Given the description of an element on the screen output the (x, y) to click on. 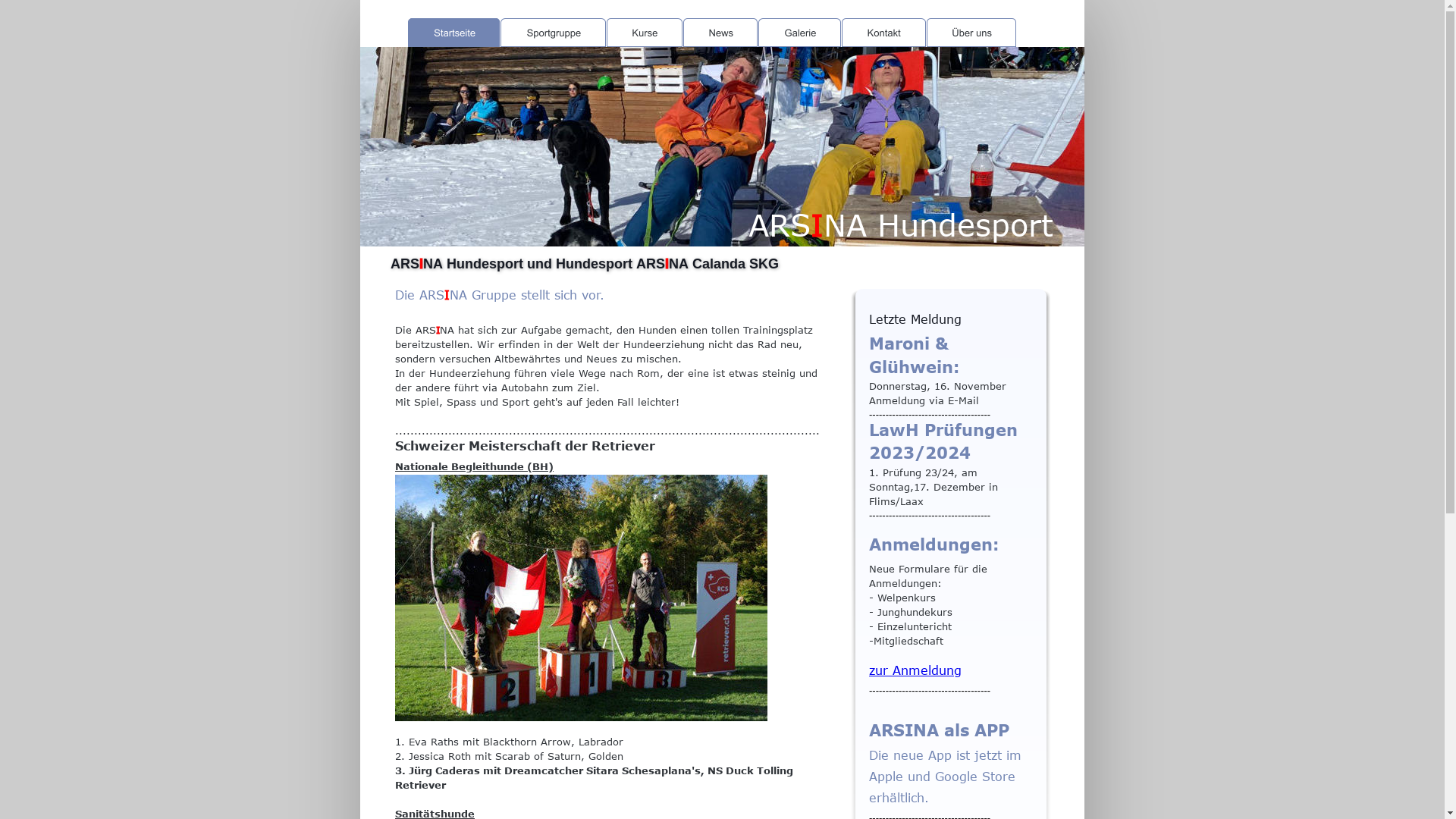
zur Anmeldung Element type: text (915, 670)
